Given the description of an element on the screen output the (x, y) to click on. 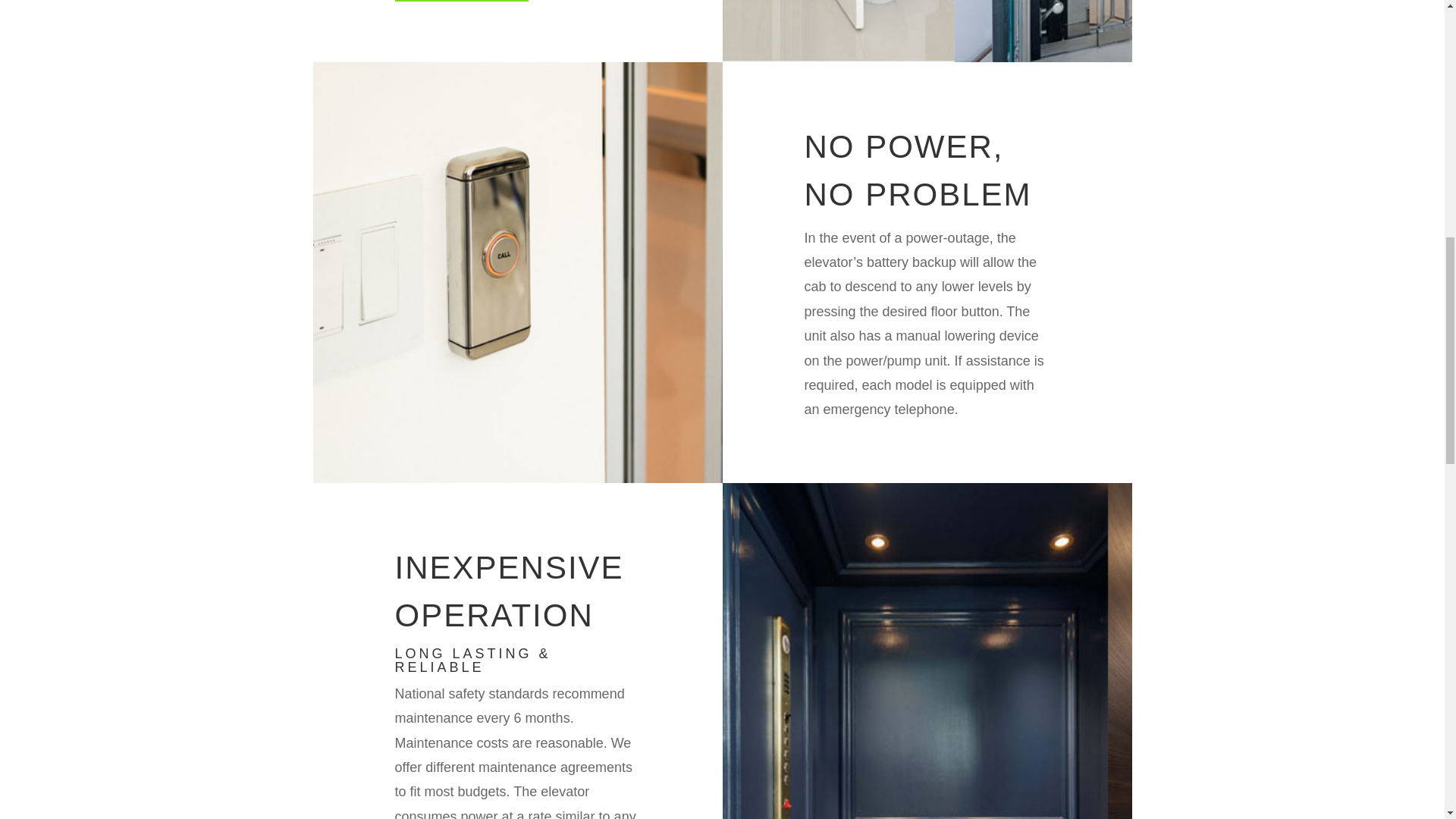
CONTACT US (460, 0)
